Given the description of an element on the screen output the (x, y) to click on. 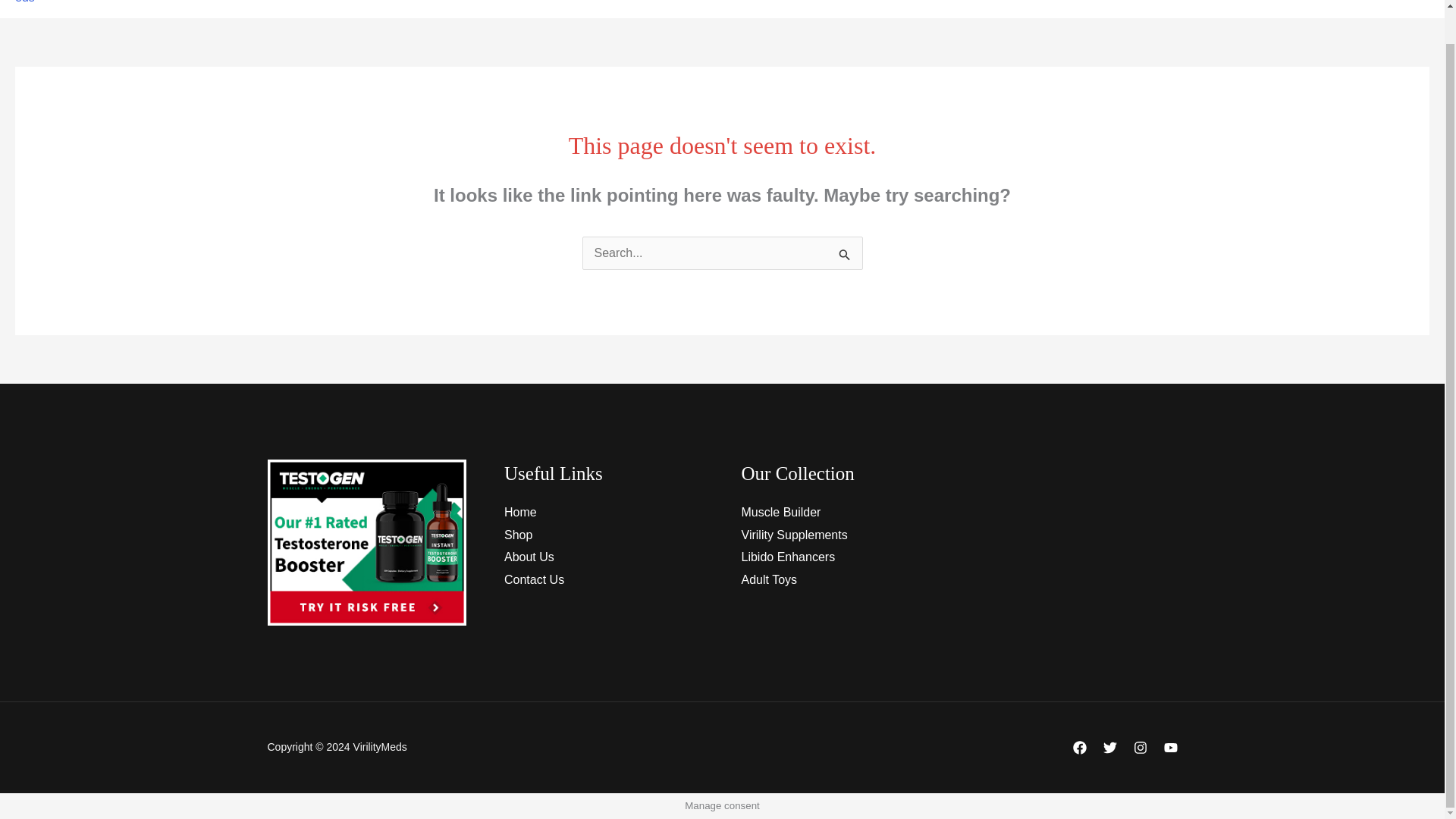
Contact Us (533, 579)
HOME (563, 9)
ABOUT US (728, 9)
PRODUCTS (639, 9)
Home (520, 512)
Libido Enhancers (788, 556)
Adult Toys (769, 579)
Shop (517, 534)
About Us (528, 556)
BLOG (882, 9)
